Given the description of an element on the screen output the (x, y) to click on. 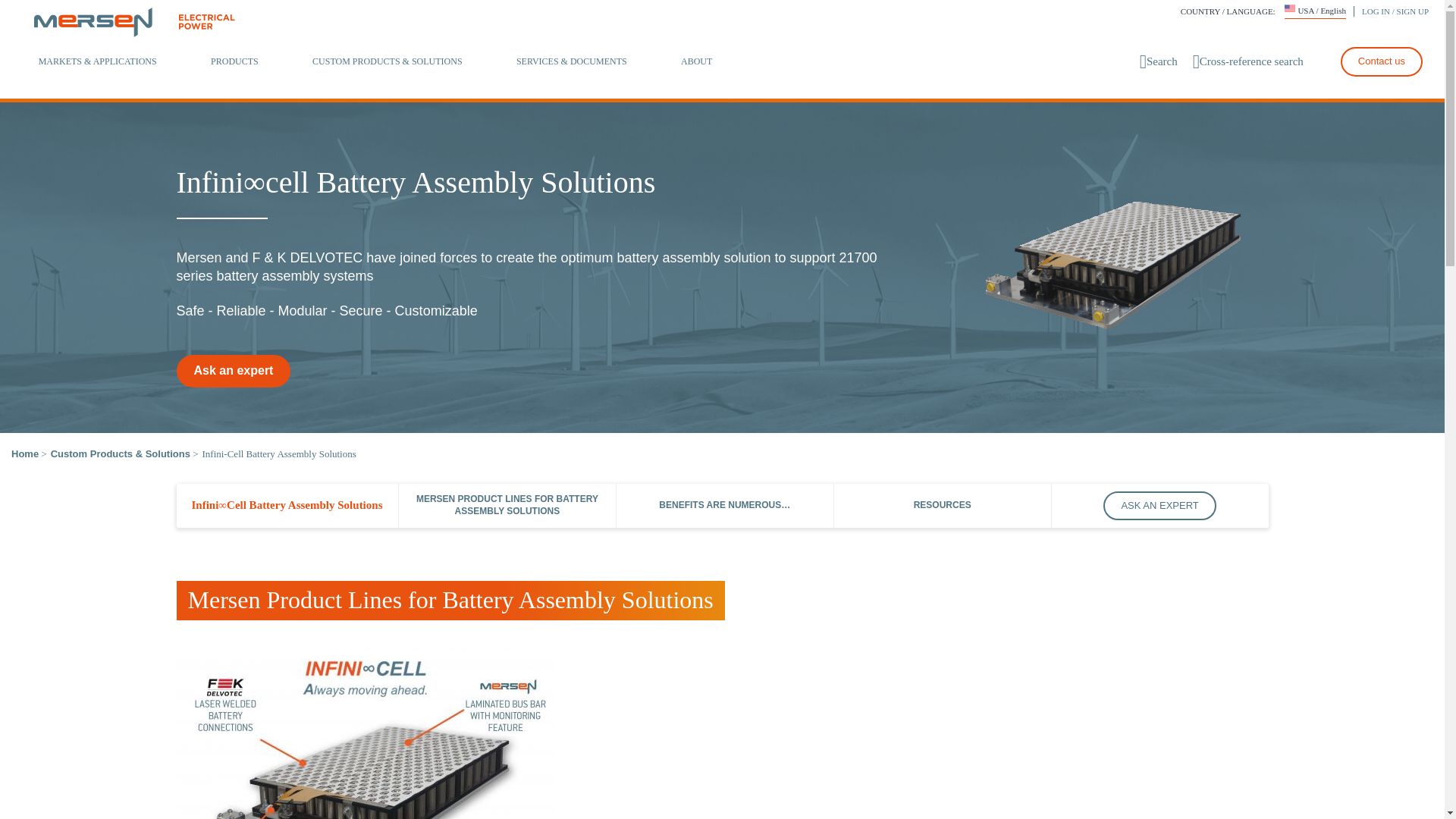
Cross-reference search (1247, 61)
Search (1158, 61)
